Given the description of an element on the screen output the (x, y) to click on. 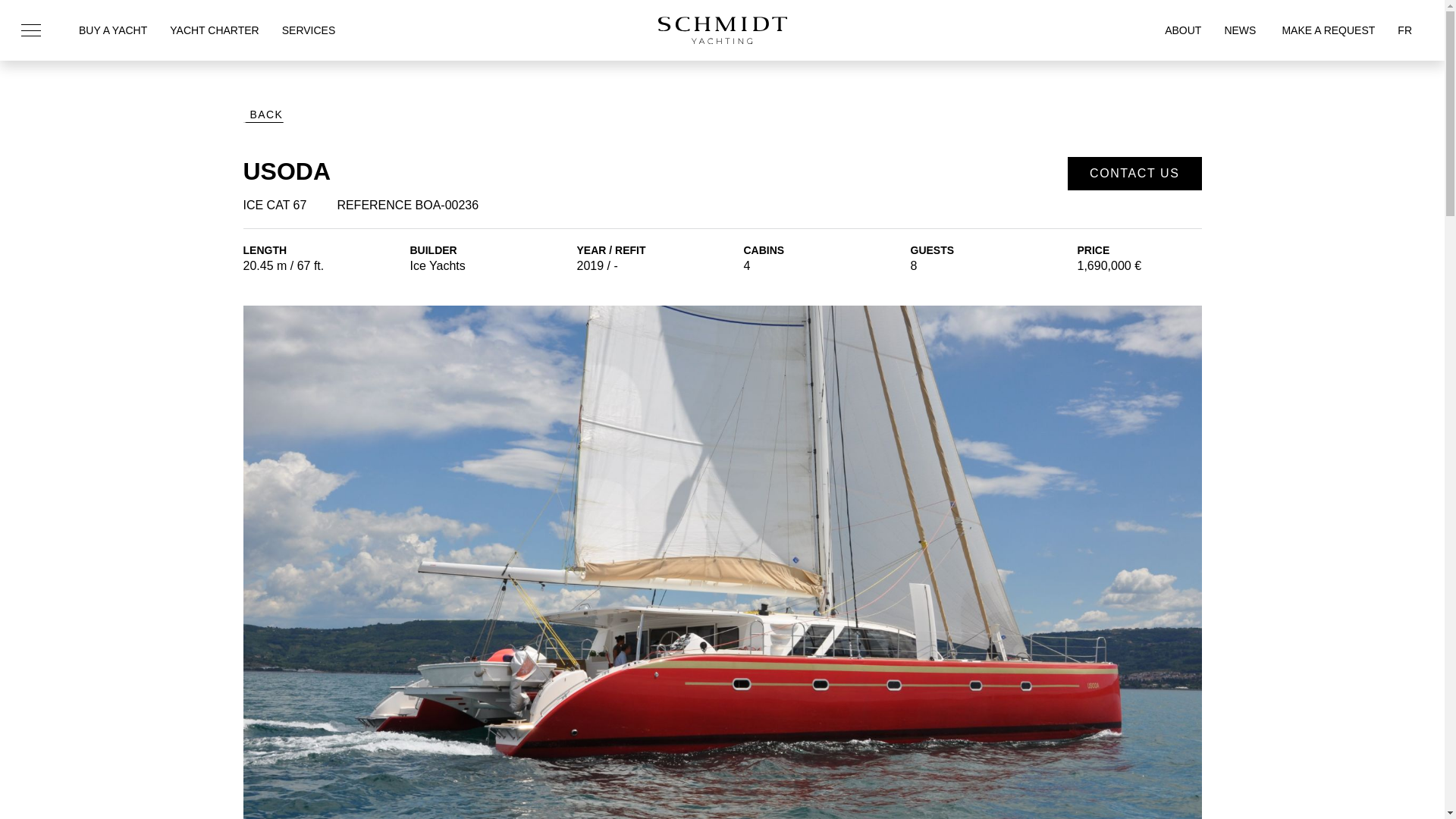
Yacht charter (213, 30)
ABOUT (1182, 30)
About (1182, 30)
BUY A YACHT (112, 30)
Become a yacht owner (112, 30)
CONTACT US (1134, 172)
NEWS (1239, 30)
News (1239, 30)
Services (308, 30)
YACHT CHARTER (213, 30)
MAKE A REQUEST (1326, 30)
FR (1404, 30)
SERVICES (308, 30)
BACK (263, 116)
